Given the description of an element on the screen output the (x, y) to click on. 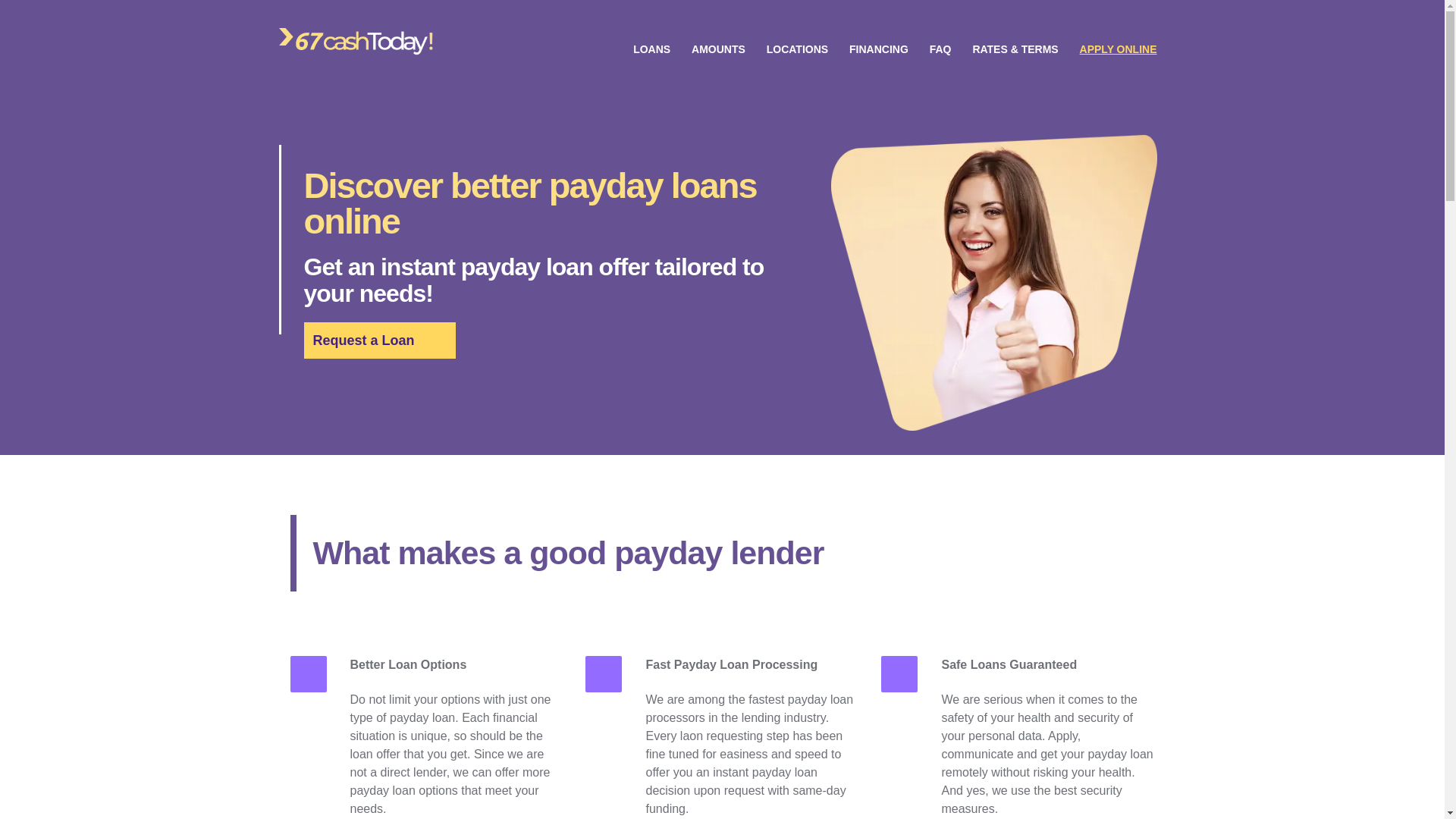
LOCATIONS (797, 48)
AMOUNTS (718, 48)
LOANS (651, 48)
